Given the description of an element on the screen output the (x, y) to click on. 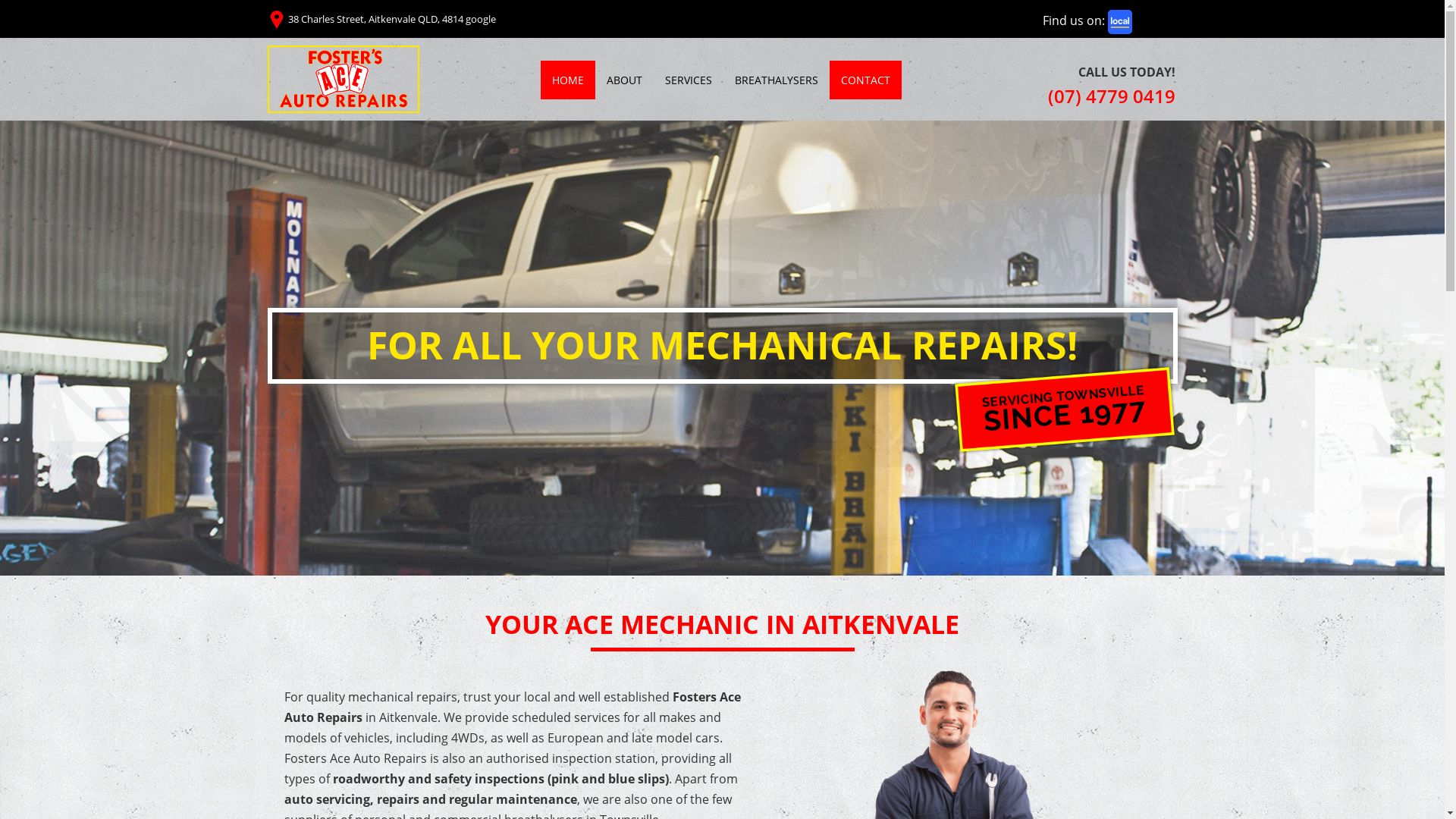
Fosters Ace Auto Repairs Element type: hover (342, 78)
google Element type: text (480, 18)
HOME Element type: text (566, 79)
SERVICES Element type: text (688, 79)
Localsearch Element type: hover (1119, 21)
38 Charles Street, Aitkenvale QLD, 4814 Element type: text (375, 18)
(07) 4779 0419 Element type: text (1111, 95)
ABOUT Element type: text (623, 79)
CONTACT Element type: text (865, 79)
BREATHALYSERS Element type: text (776, 79)
